Given the description of an element on the screen output the (x, y) to click on. 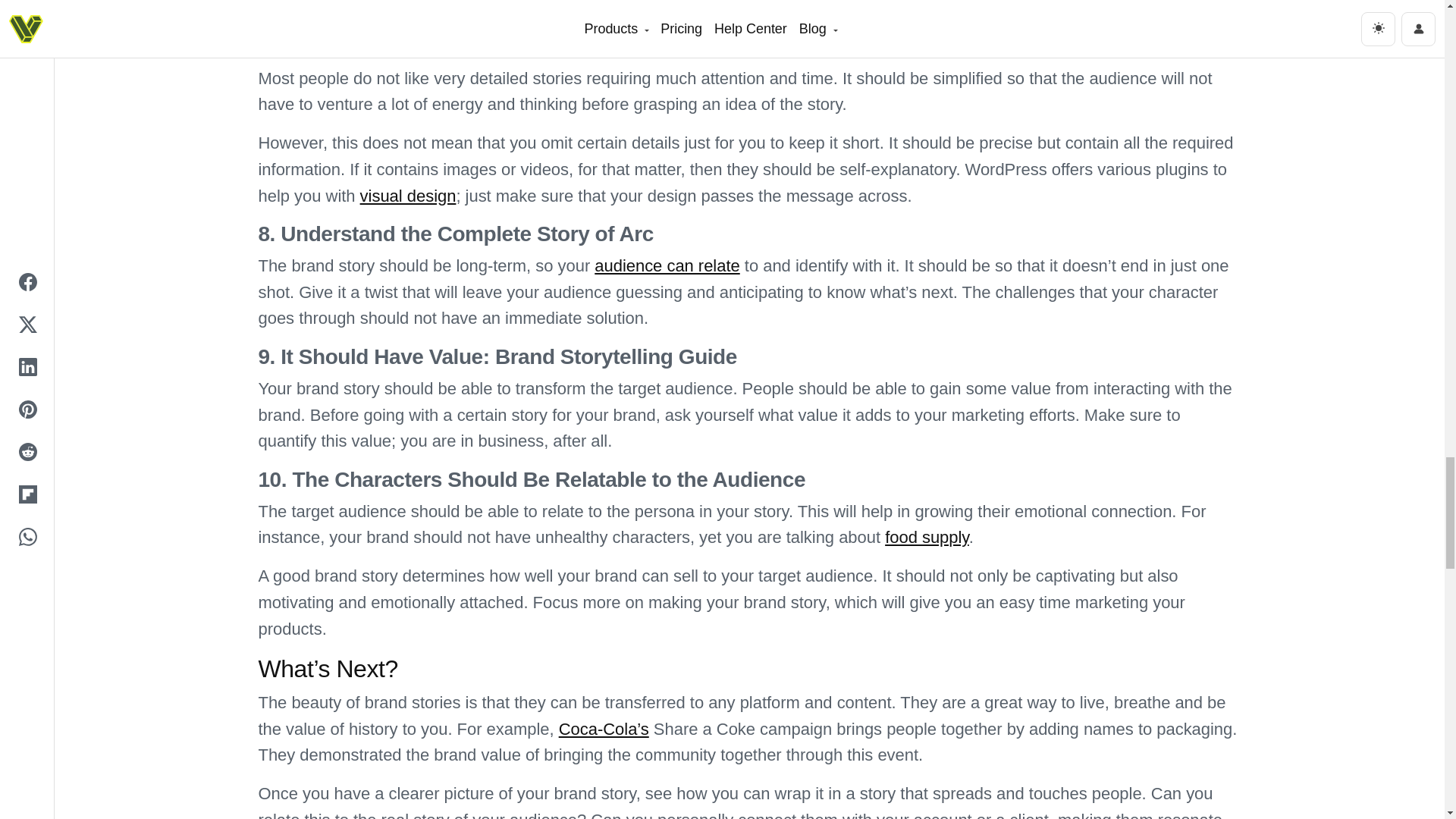
audience can relate (666, 265)
visual design (408, 195)
food supply (927, 537)
